Given the description of an element on the screen output the (x, y) to click on. 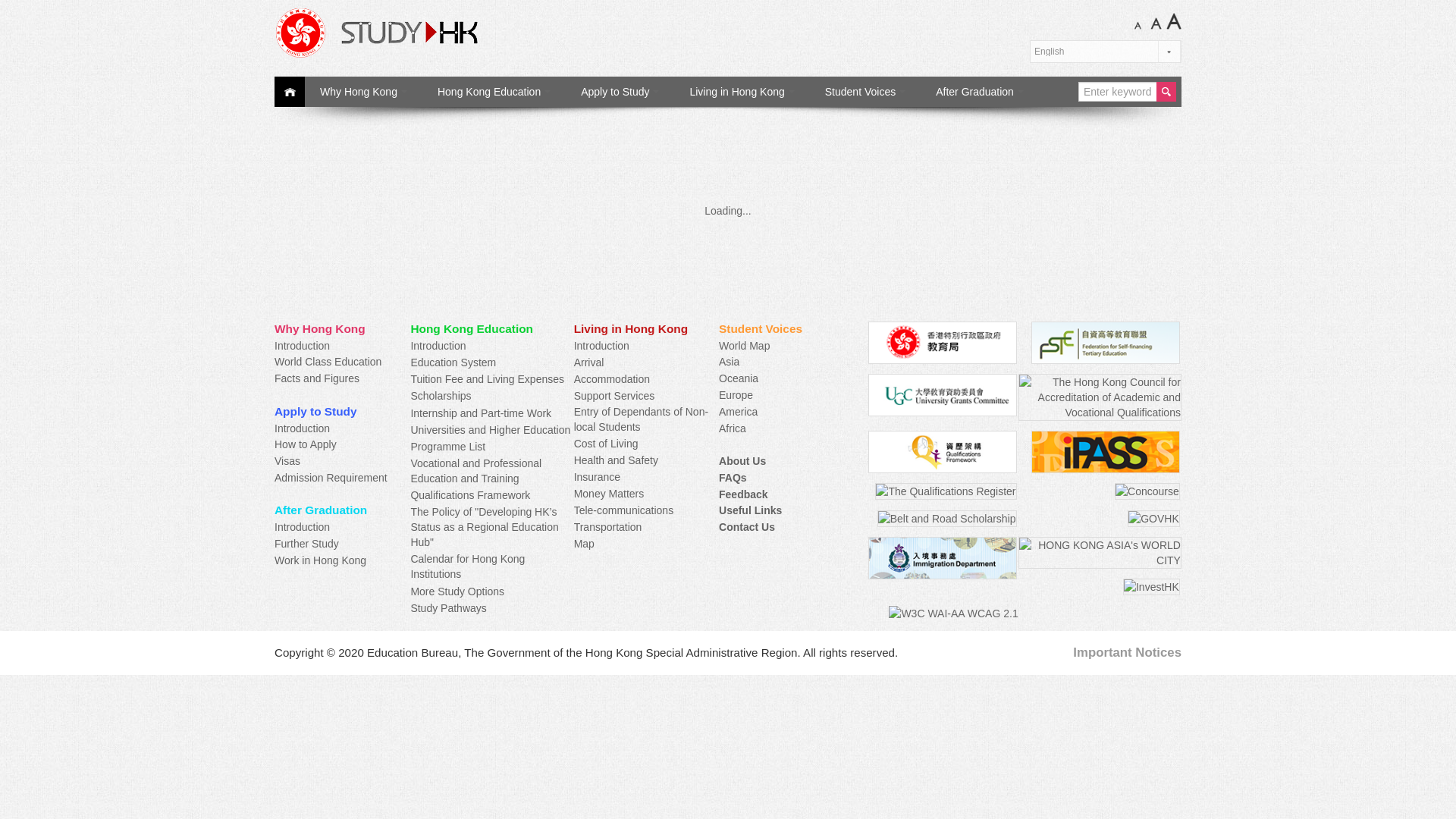
Hong Kong Education (494, 91)
Living in Hong Kong (741, 91)
Apply to Study (620, 91)
Studyinhk (443, 31)
Home (289, 91)
Education Bureau (941, 342)
Why Hong Kong (363, 91)
